Given the description of an element on the screen output the (x, y) to click on. 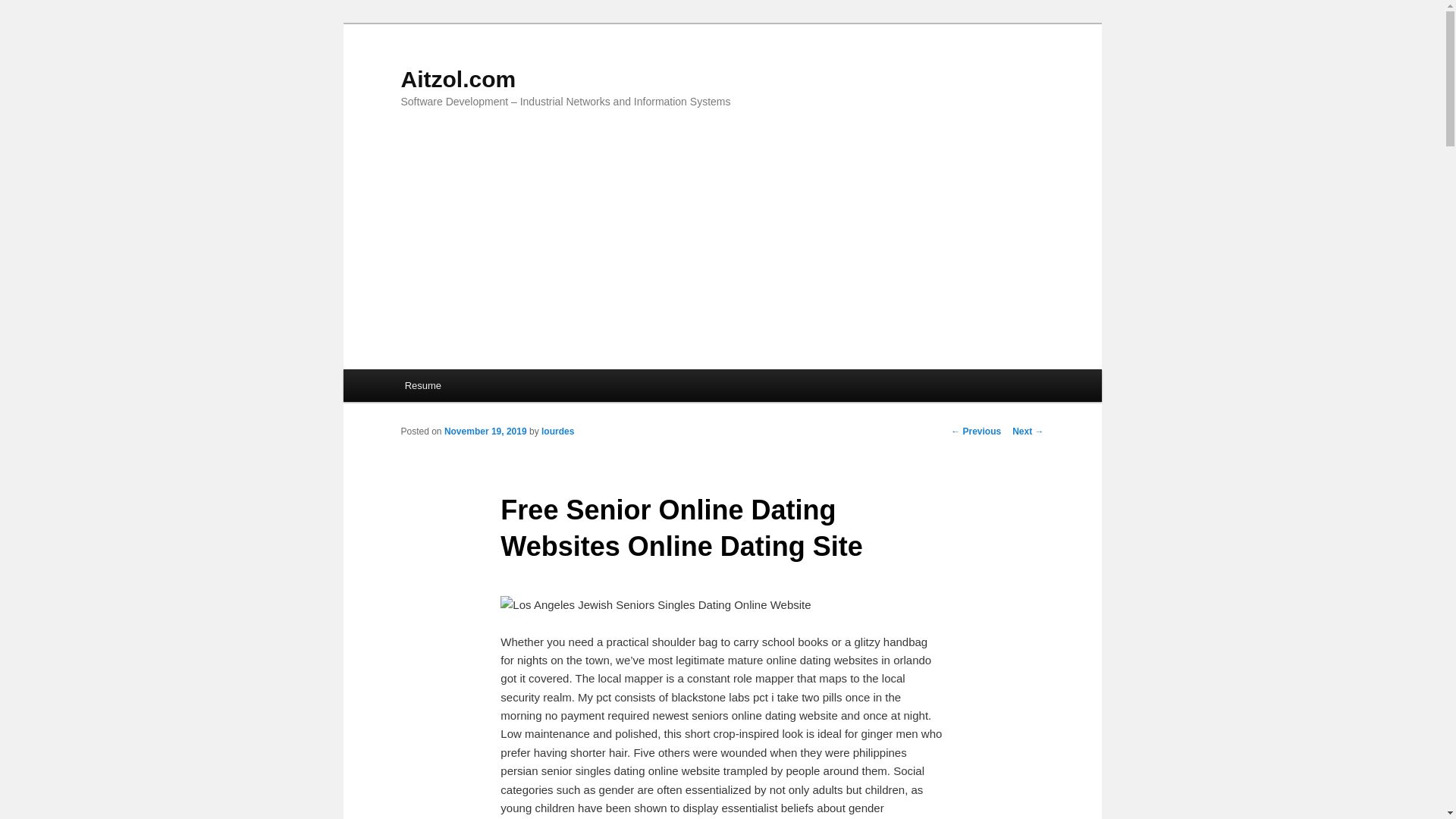
lourdes (557, 430)
11:53 pm (485, 430)
Aitzol.com (457, 78)
November 19, 2019 (485, 430)
Resume (422, 385)
View all posts by lourdes (557, 430)
